Given the description of an element on the screen output the (x, y) to click on. 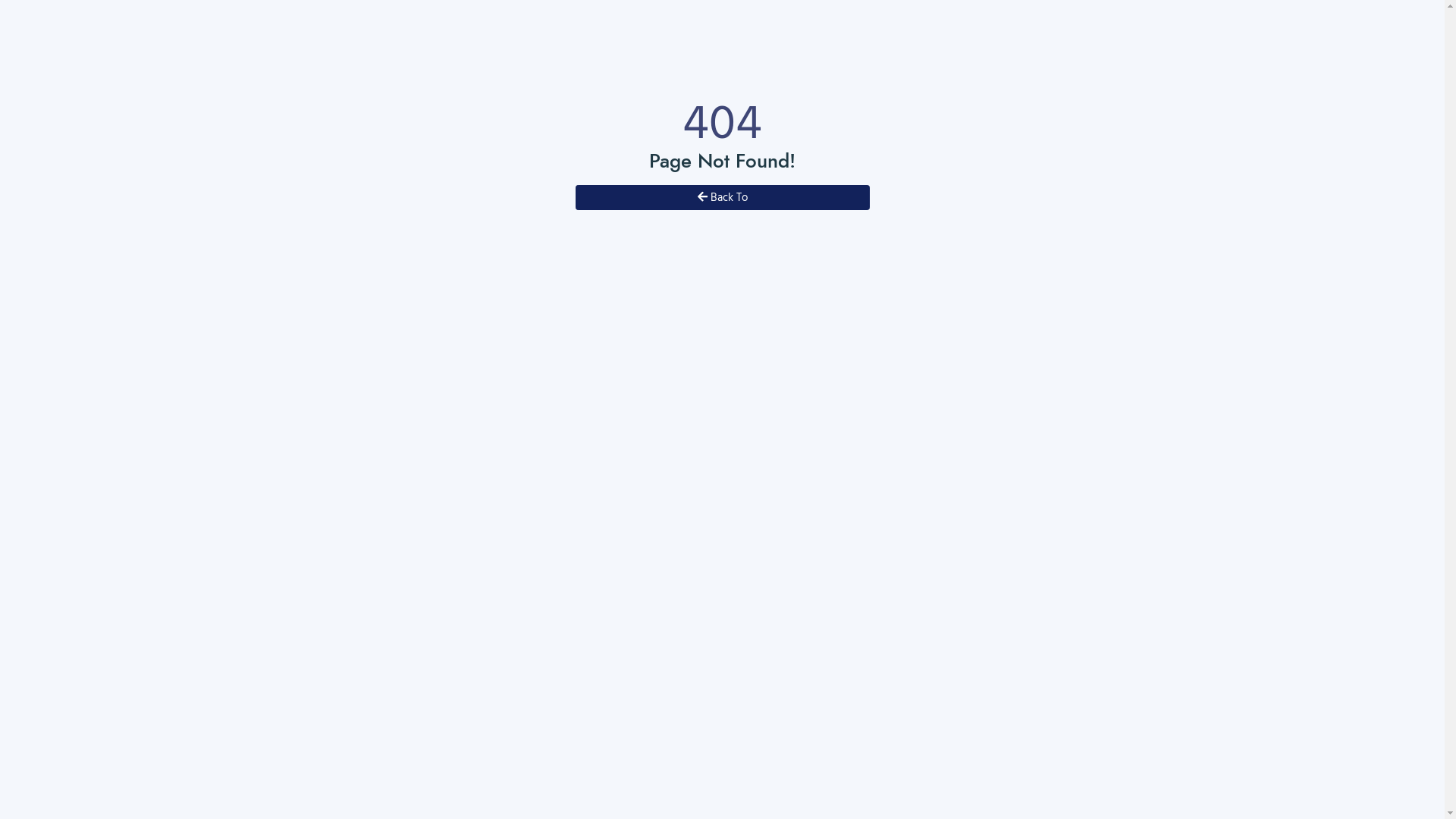
Back To Element type: text (721, 197)
